Given the description of an element on the screen output the (x, y) to click on. 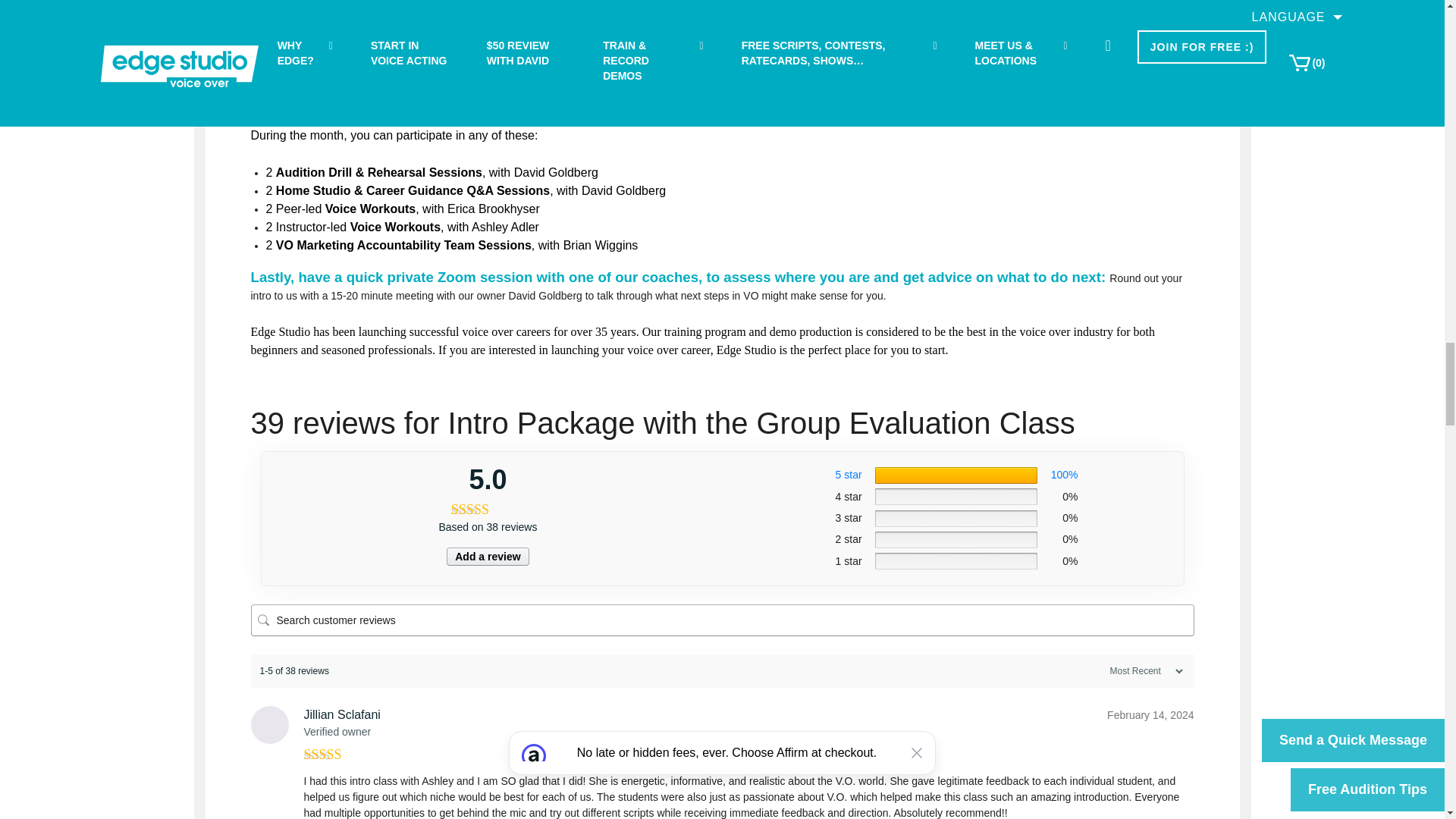
5 star (848, 474)
